Given the description of an element on the screen output the (x, y) to click on. 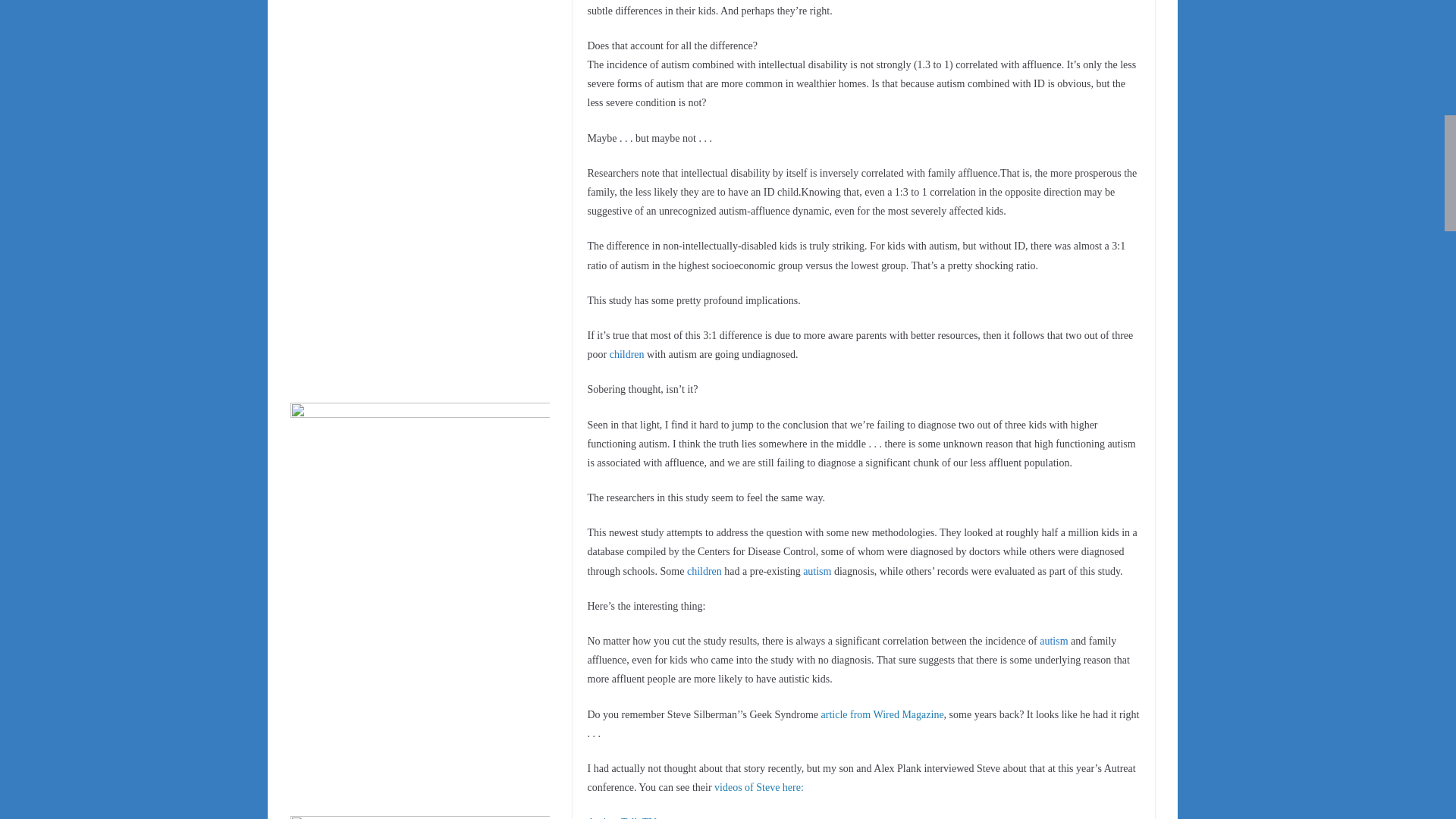
Autism Talk TV (621, 817)
Autism and Adolescence (1053, 641)
article from Wired Magazine (882, 714)
children (627, 354)
Autism and Adolescence (704, 571)
children (704, 571)
Autism and Adolescence (627, 354)
autism (1053, 641)
videos of Steve here: (758, 787)
autism (817, 571)
